Given the description of an element on the screen output the (x, y) to click on. 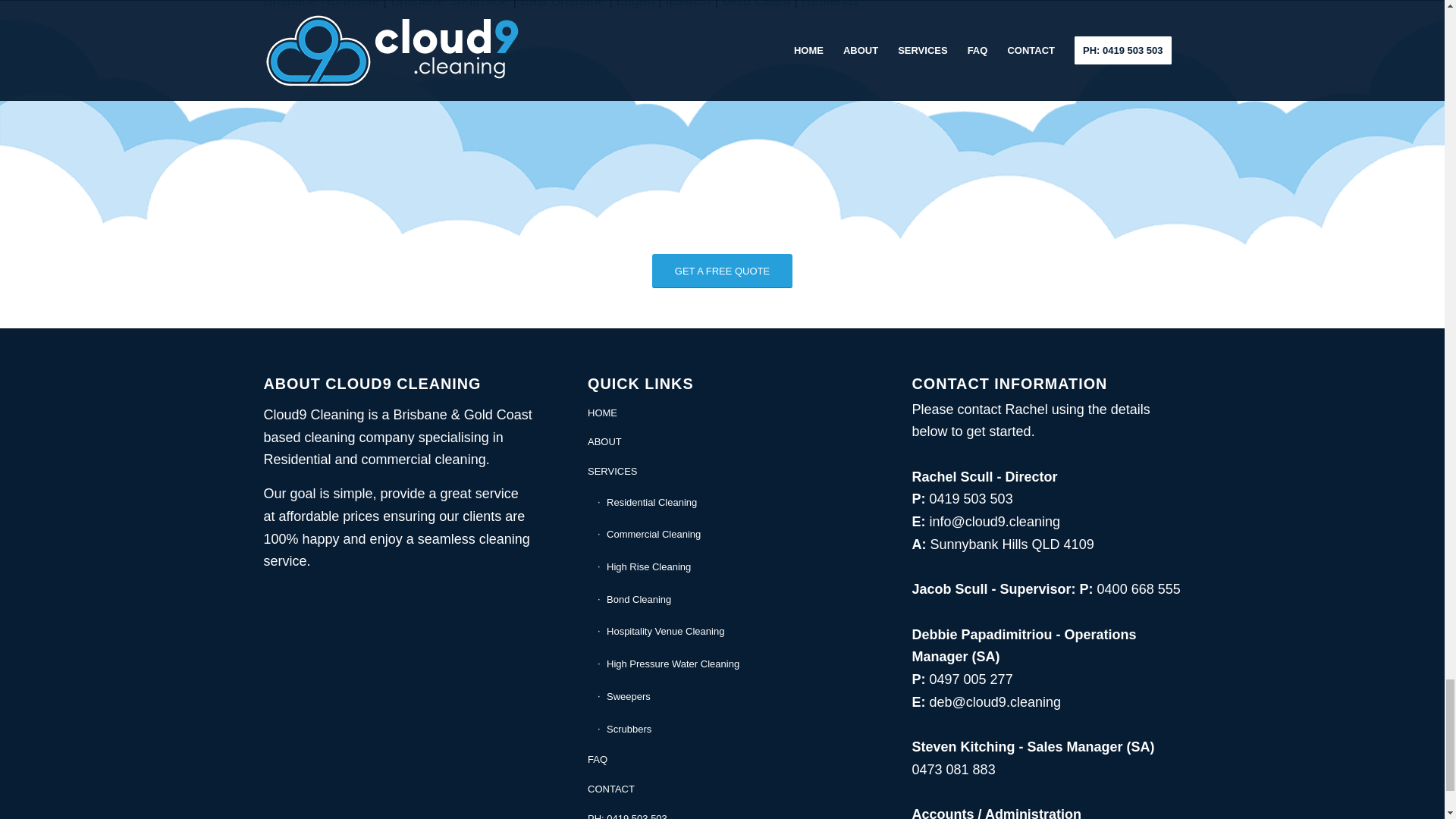
SERVICES (722, 471)
Logan (634, 4)
High Pressure Water Cleaning (726, 664)
HOME (722, 413)
GET A FREE QUOTE (722, 270)
Gold Coast (756, 4)
Brisbane Northside (321, 4)
ABOUT (722, 442)
Residential Cleaning (726, 502)
PH: 0419 503 503 (722, 811)
Ipswich (688, 4)
Bond Cleaning (726, 599)
High Rise Cleaning (726, 567)
Scrubbers (726, 729)
Sweepers (726, 696)
